Given the description of an element on the screen output the (x, y) to click on. 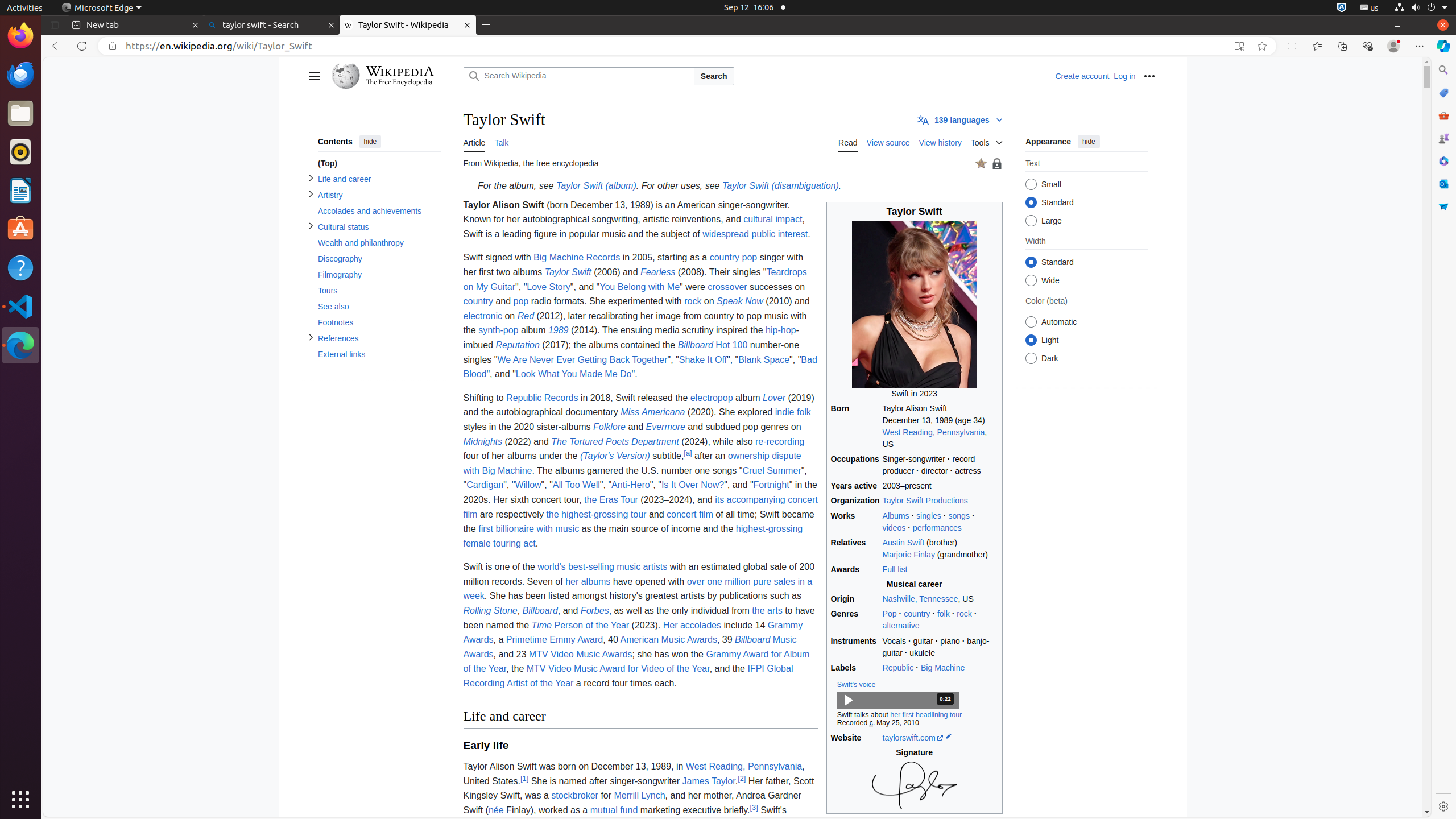
Talk Element type: link (501, 141)
Teardrops on My Guitar Element type: link (634, 279)
(Top) Element type: link (378, 163)
Anti-Hero Element type: link (630, 485)
alternative Element type: link (900, 625)
